Given the description of an element on the screen output the (x, y) to click on. 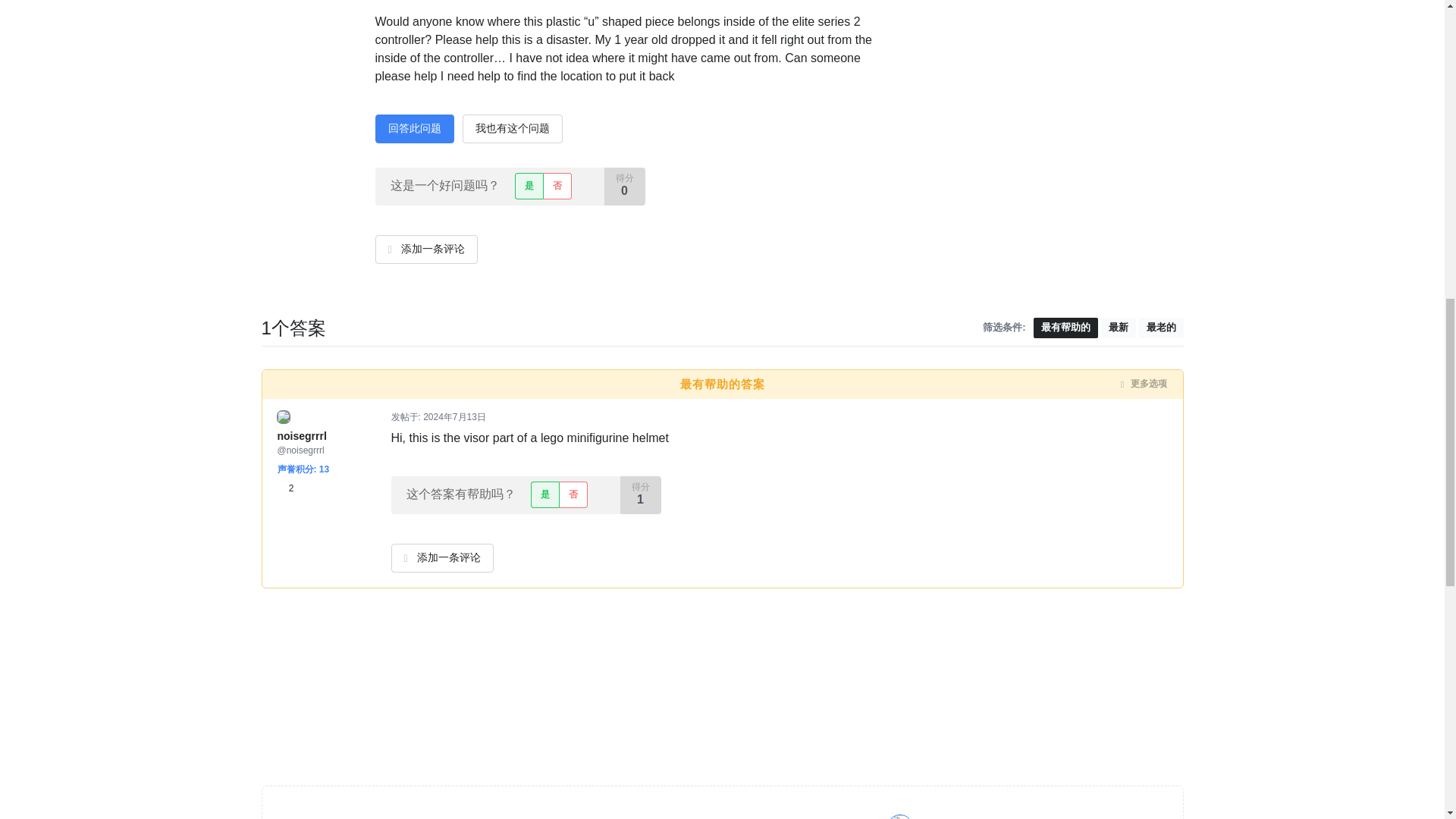
Sat, 13 Jul 2024 16:22:55 -0700 (454, 416)
2 (286, 488)
